Given the description of an element on the screen output the (x, y) to click on. 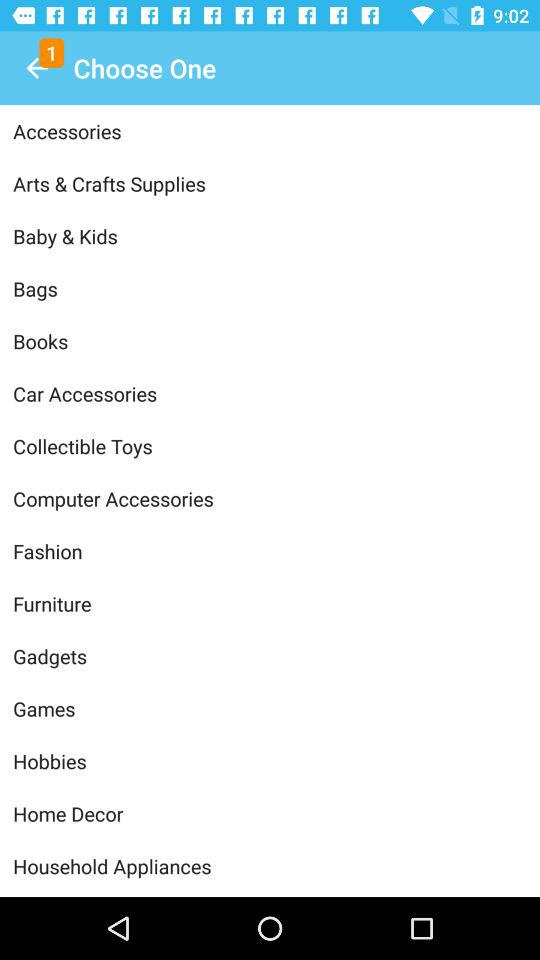
choose item below the arts & crafts supplies (269, 236)
